Given the description of an element on the screen output the (x, y) to click on. 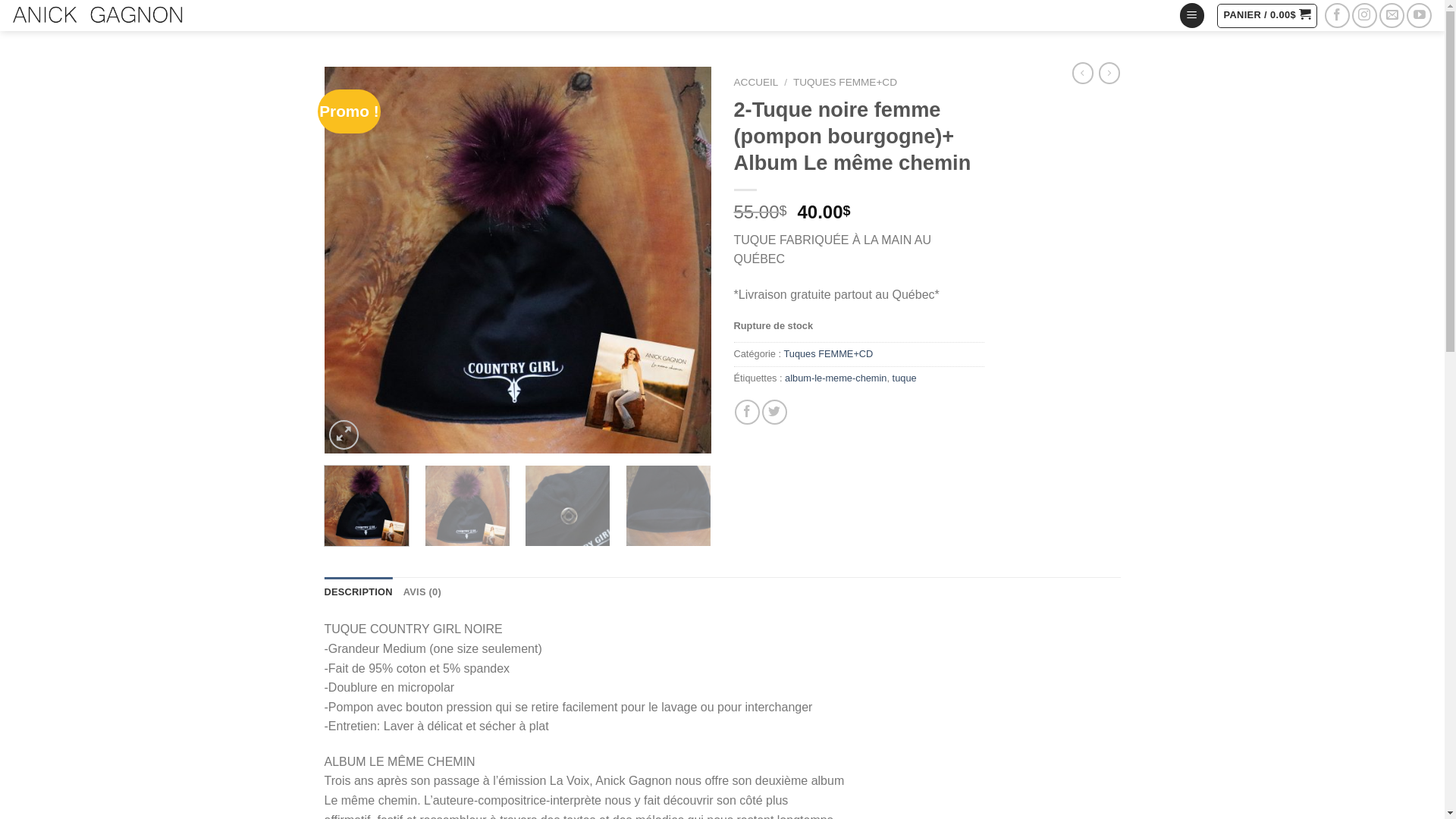
album-le-meme-chemin Element type: text (835, 377)
Tuques FEMME+CD Element type: text (827, 353)
ACCUEIL Element type: text (756, 81)
tuque Element type: text (904, 377)
PANIER / 0.00$ Element type: text (1267, 15)
Anick Gagnon - Site Officiel Element type: hover (97, 15)
TUQUES FEMME+CD Element type: text (845, 81)
Girl-Noire-bourgogne Element type: hover (517, 259)
DESCRIPTION Element type: text (358, 592)
AVIS (0) Element type: text (422, 592)
